Given the description of an element on the screen output the (x, y) to click on. 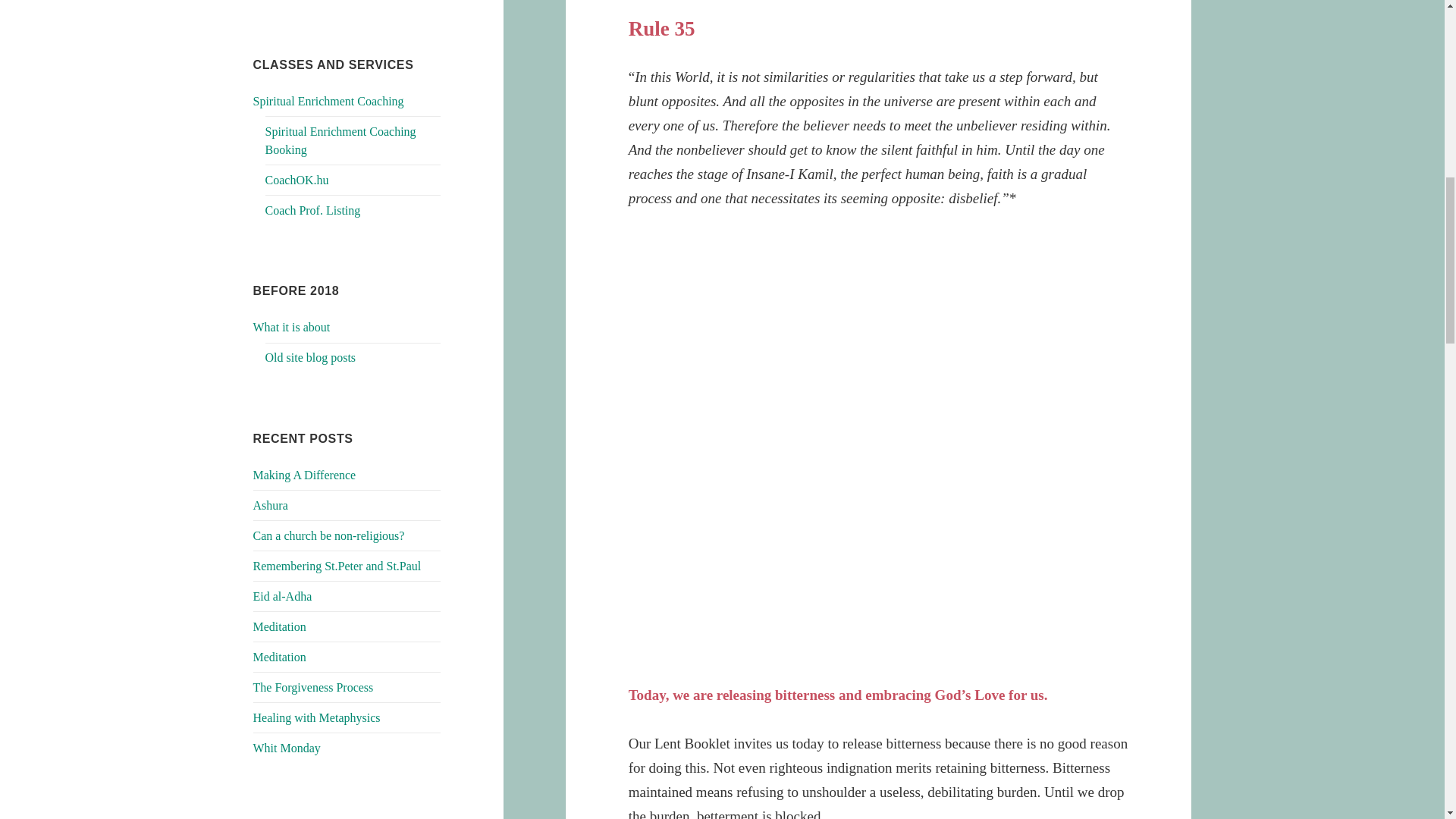
Meditation (279, 656)
Whit Monday (286, 748)
CoachOK.hu (296, 179)
Spiritual Enrichment Coaching (328, 101)
Spiritual Enrichment Coaching Booking (340, 140)
Healing with Metaphysics (316, 717)
Meditation (279, 626)
What it is about (291, 327)
Old site blog posts (310, 357)
Coach Prof. Listing (312, 210)
Remembering St.Peter and St.Paul (337, 565)
Can a church be non-religious? (328, 535)
The Forgiveness Process (313, 686)
Ashura (270, 504)
